Given the description of an element on the screen output the (x, y) to click on. 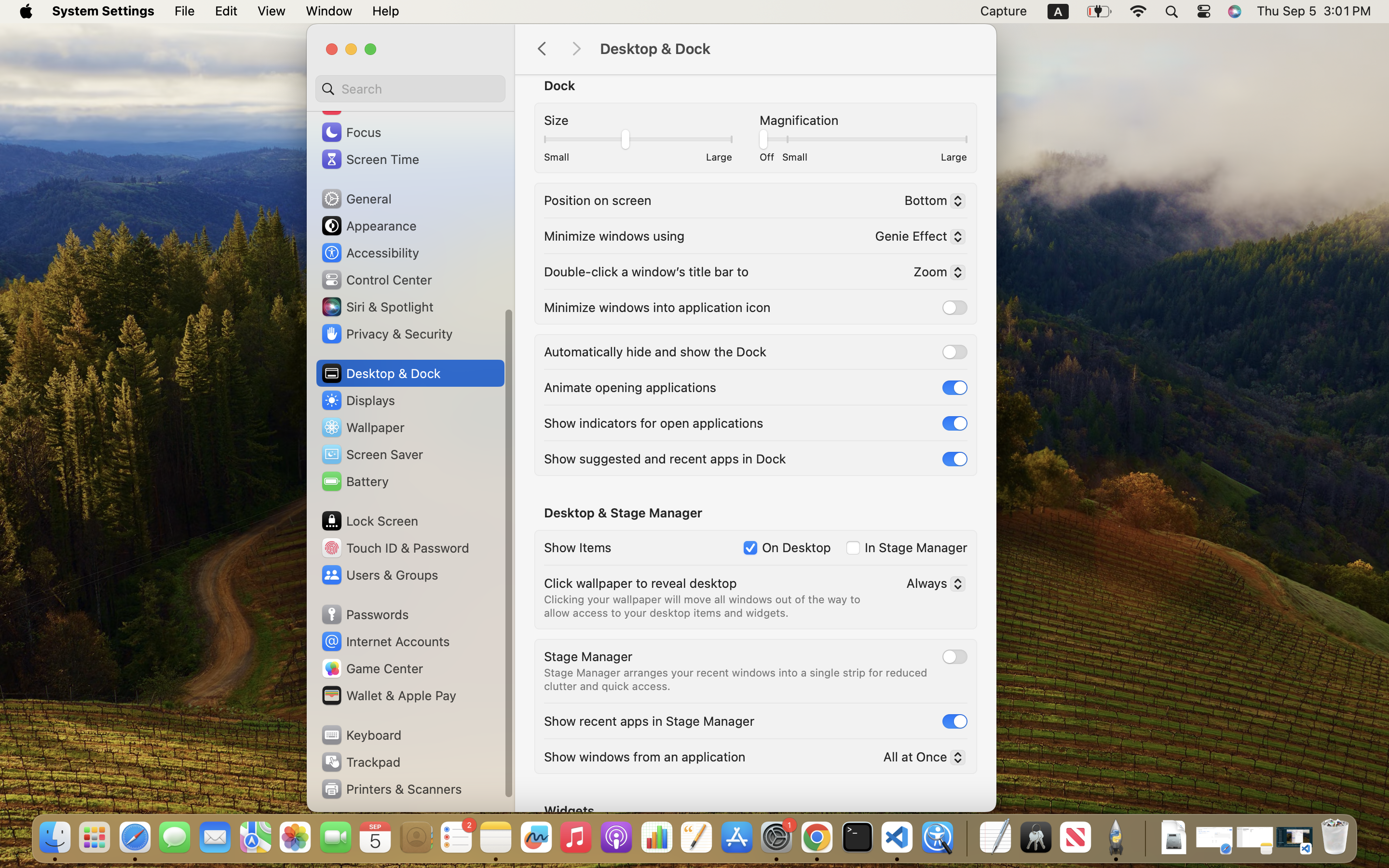
Wallet & Apple Pay Element type: AXStaticText (388, 694)
Position on screen Element type: AXStaticText (597, 199)
Zoom Element type: AXPopUpButton (935, 273)
Game Center Element type: AXStaticText (371, 667)
